Given the description of an element on the screen output the (x, y) to click on. 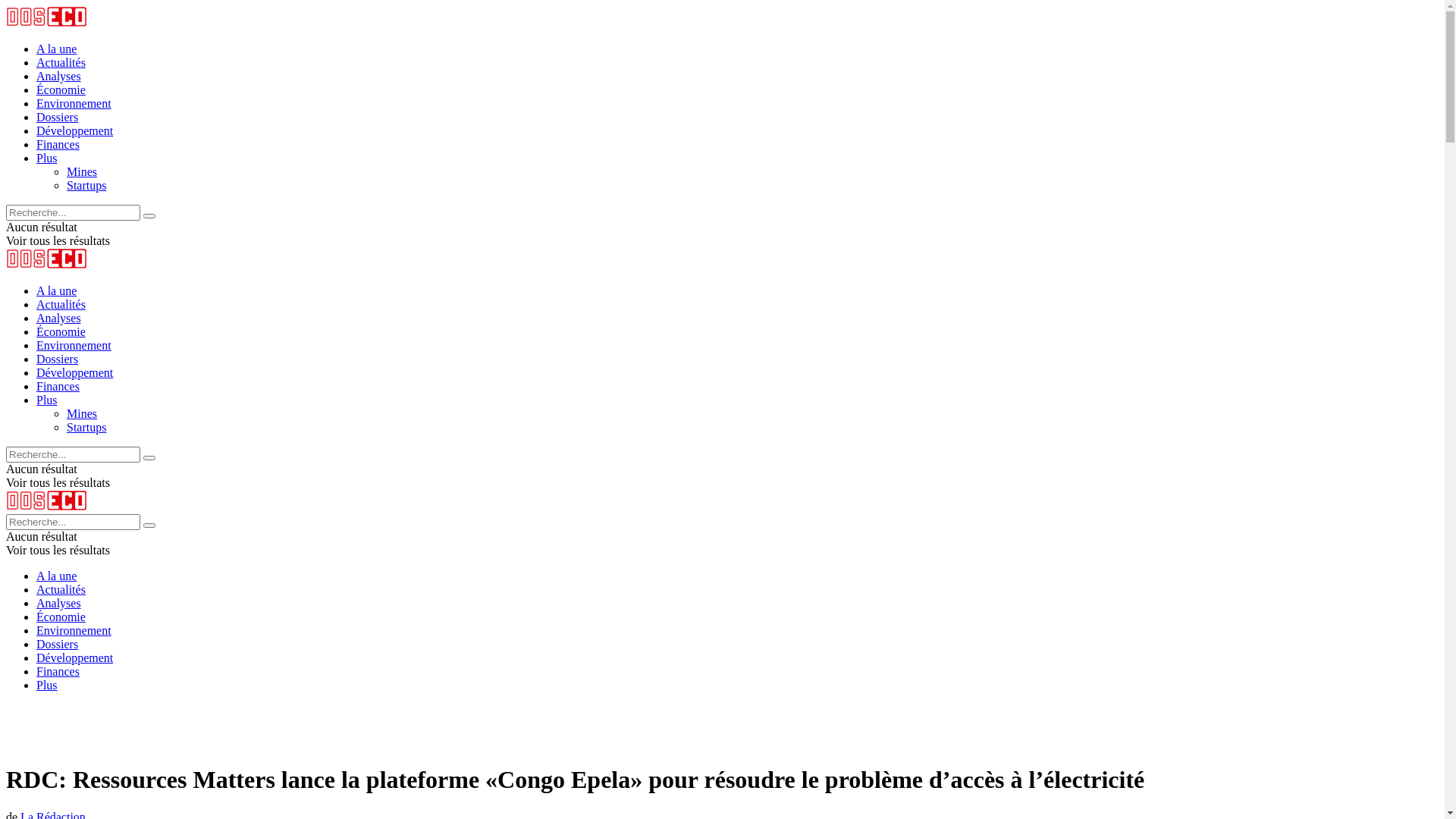
Dossiers Element type: text (57, 358)
Environnement Element type: text (73, 103)
Finances Element type: text (57, 671)
A la une Element type: text (56, 48)
Startups Element type: text (86, 426)
Environnement Element type: text (73, 630)
Environnement Element type: text (73, 344)
Dossiers Element type: text (57, 116)
A la une Element type: text (56, 290)
Mines Element type: text (81, 413)
Startups Element type: text (86, 184)
Plus Element type: text (46, 399)
Finances Element type: text (57, 144)
Plus Element type: text (46, 684)
Mines Element type: text (81, 171)
Finances Element type: text (57, 385)
Analyses Element type: text (58, 75)
A la une Element type: text (56, 575)
Plus Element type: text (46, 157)
Dossiers Element type: text (57, 643)
Analyses Element type: text (58, 602)
Analyses Element type: text (58, 317)
